Given the description of an element on the screen output the (x, y) to click on. 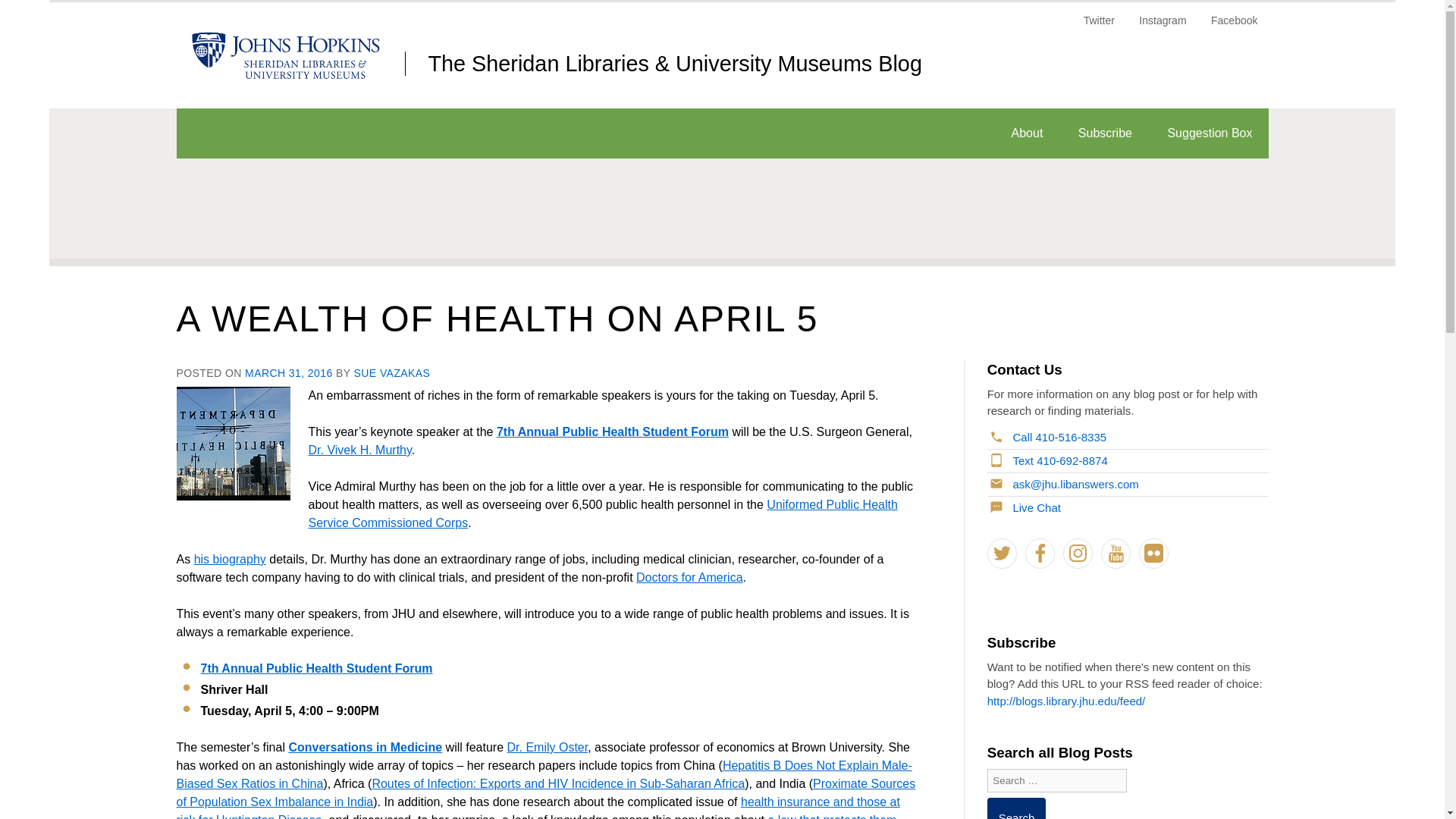
Conversations in Medicine (365, 747)
SUE VAZAKAS (391, 372)
Facebook (1040, 553)
health insurance and those at risk for Huntington Disease (537, 807)
Doctors for America (689, 576)
Call 410-516-8335 (1048, 436)
Live Chat (1025, 506)
MARCH 31, 2016 (288, 372)
Search (1016, 808)
